Given the description of an element on the screen output the (x, y) to click on. 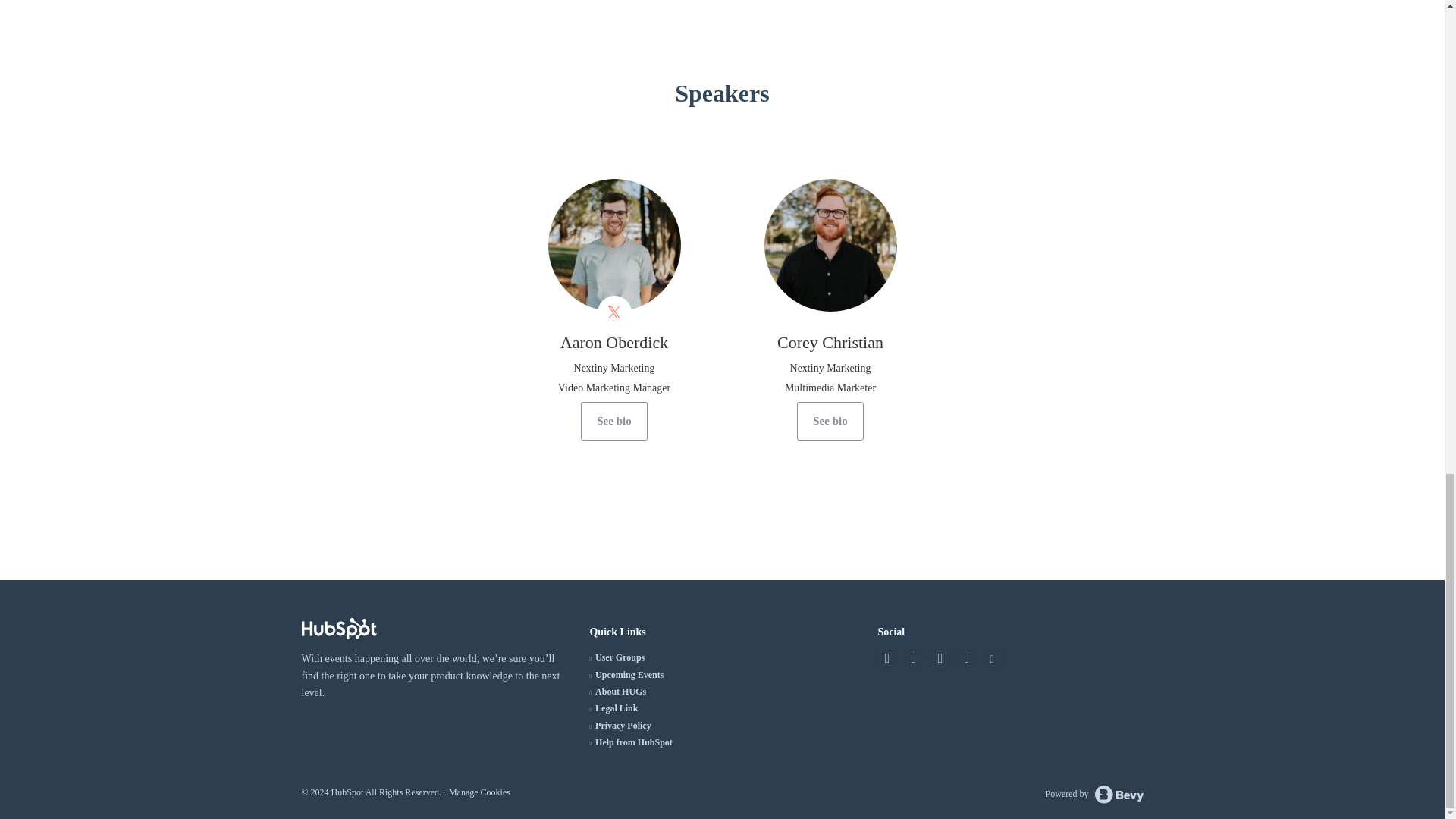
About HUGs (620, 691)
LinkedIn (965, 657)
Privacy Policy (622, 725)
X (886, 657)
See bio (829, 421)
Manage Cookies (479, 792)
Legal Link (616, 707)
Upcoming Events (629, 674)
Facebook (913, 657)
Help from HubSpot (633, 742)
YouTube (991, 657)
Powered by (1093, 794)
User Groups (620, 656)
Instagram (939, 657)
See bio (613, 421)
